Given the description of an element on the screen output the (x, y) to click on. 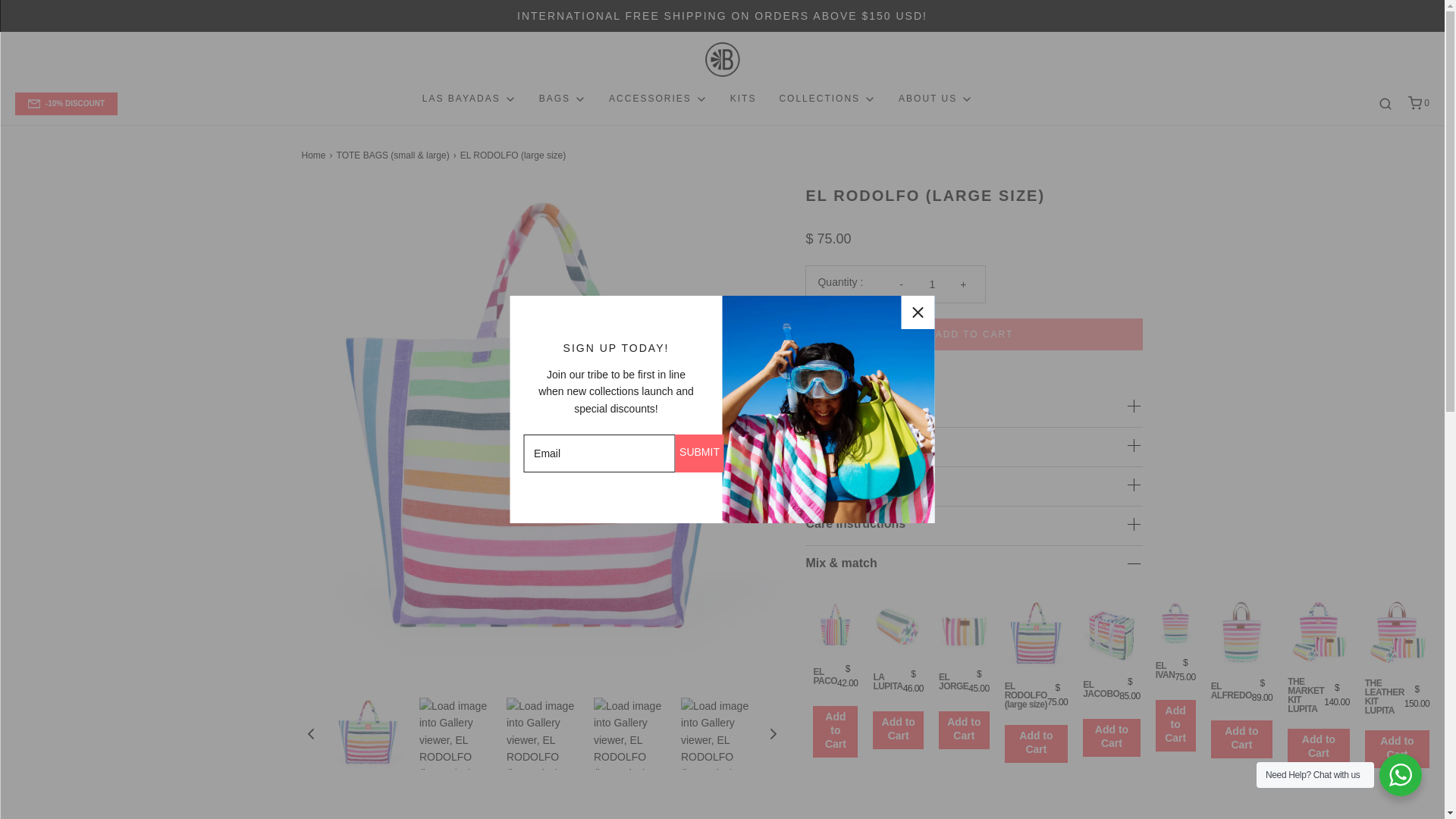
Cart (1417, 103)
Search (1423, 6)
Search (1384, 103)
Back to the frontpage (315, 155)
1 (931, 284)
